Given the description of an element on the screen output the (x, y) to click on. 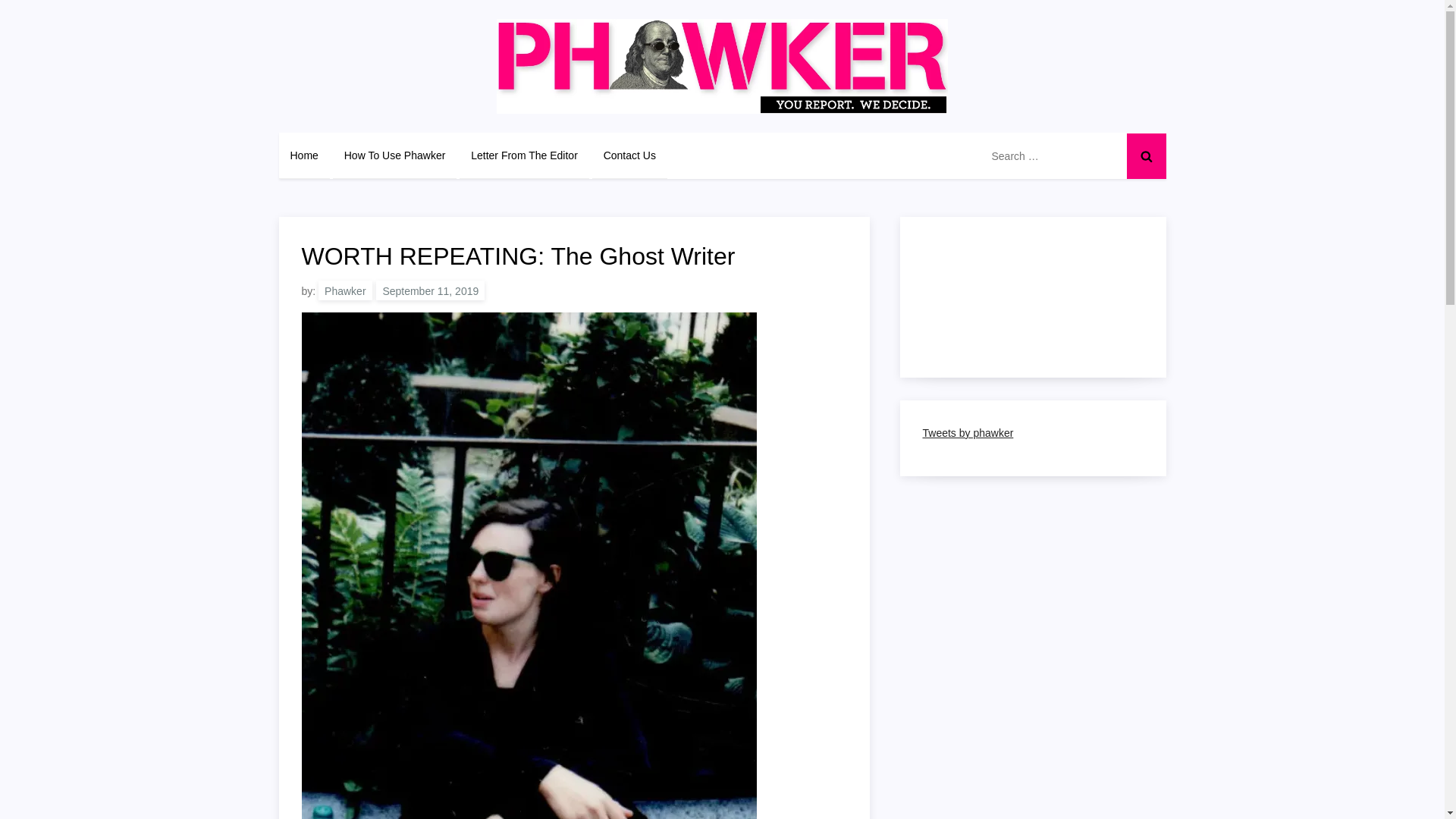
Contact Us (629, 155)
How To Use Phawker (395, 155)
Home (304, 155)
September 11, 2019 (429, 290)
Tweets by phawker (967, 432)
Phawker (344, 290)
Letter From The Editor (524, 155)
